Given the description of an element on the screen output the (x, y) to click on. 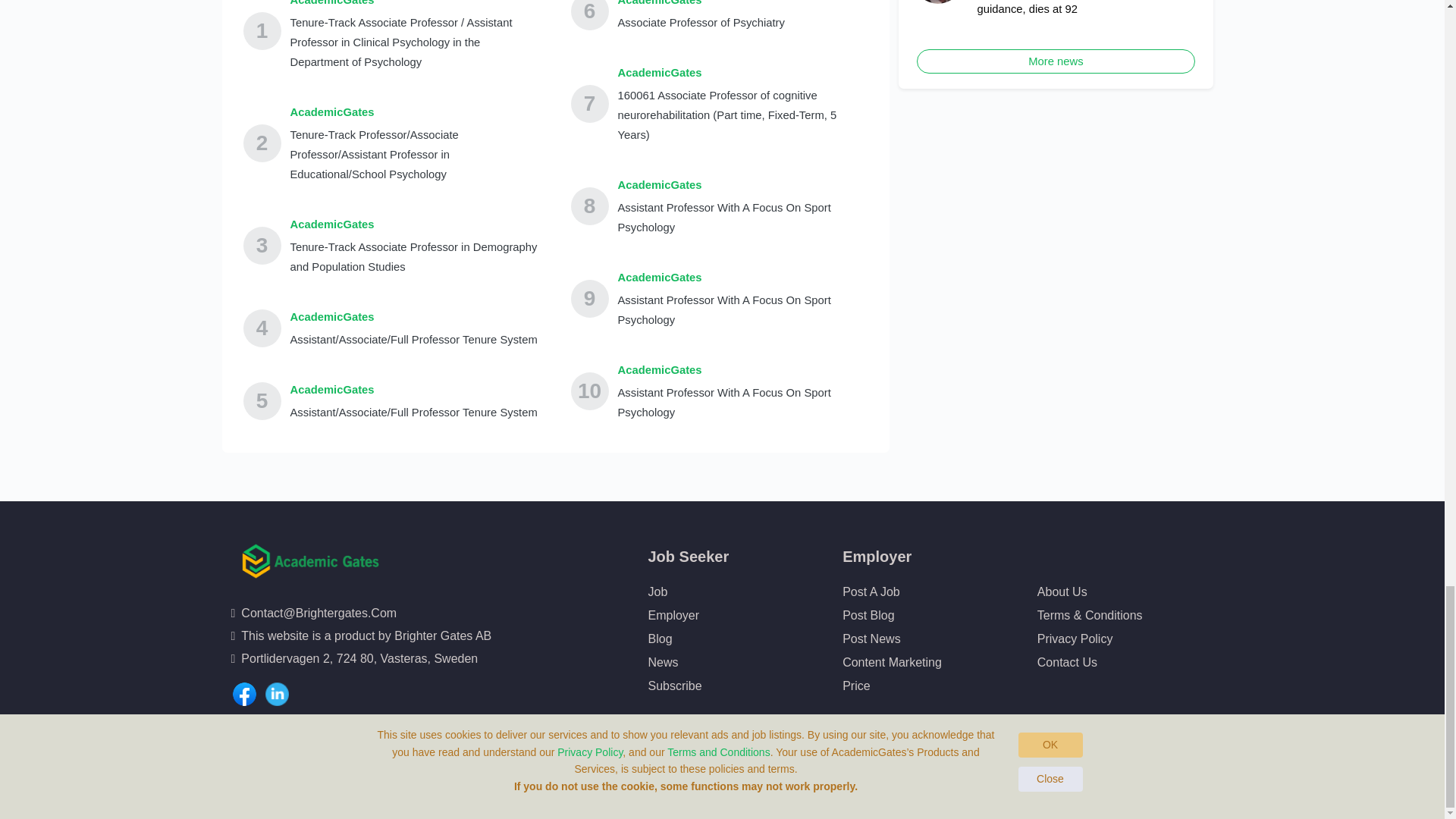
Assistant Professor With A Focus On Sport Psychology (742, 217)
AcademicGates (413, 389)
AcademicGates (742, 277)
AcademicGates (413, 316)
AcademicGates (414, 112)
AcademicGates (414, 4)
Assistant Professor With A Focus On Sport Psychology (742, 402)
AcademicGates (742, 184)
AcademicGates (700, 4)
Assistant Professor With A Focus On Sport Psychology (742, 310)
AcademicGates (742, 370)
AcademicGates (414, 224)
AcademicGates (742, 72)
Associate Professor of Psychiatry (700, 22)
